Given the description of an element on the screen output the (x, y) to click on. 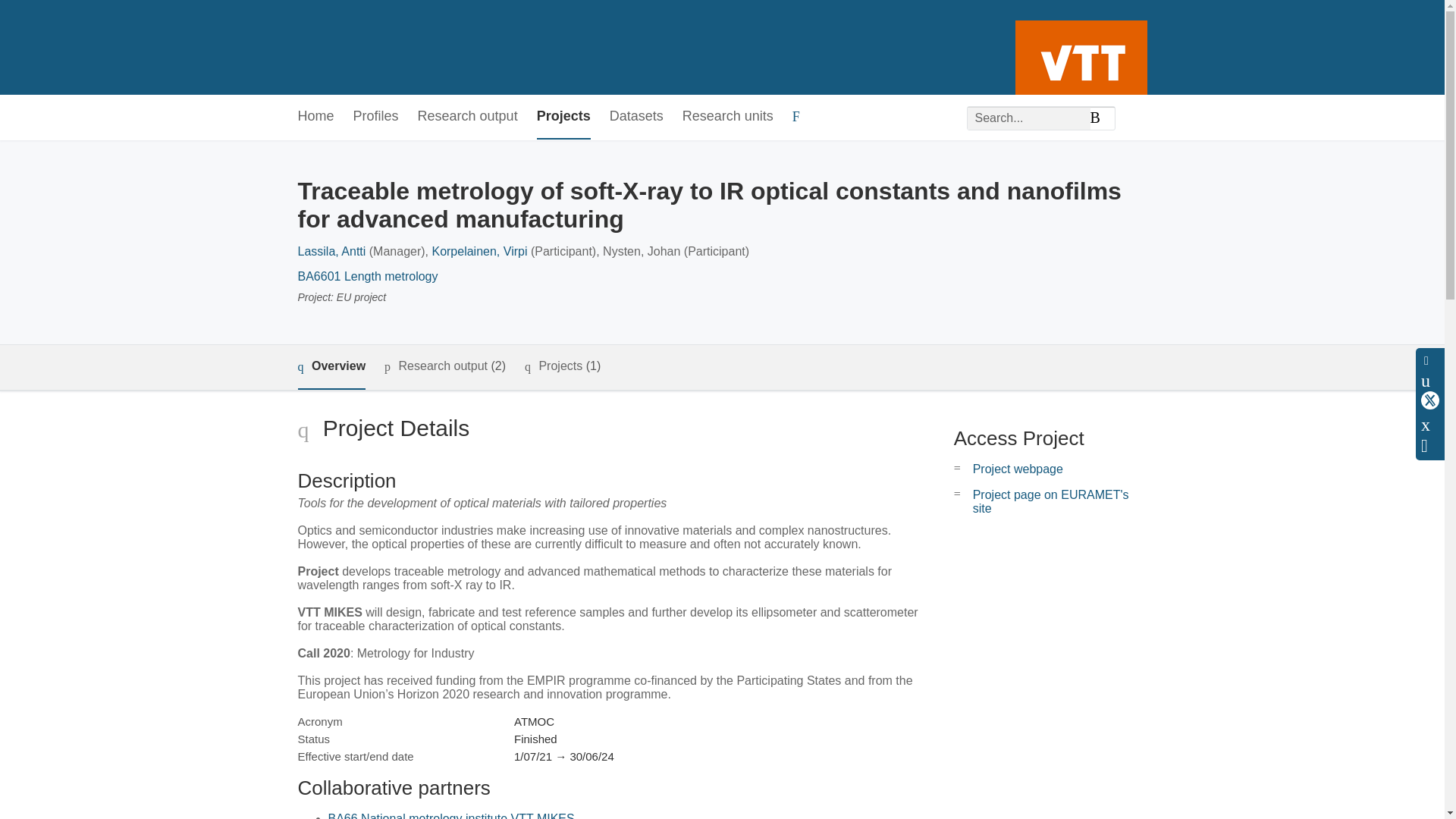
Datasets (636, 117)
BA6601 Length metrology (367, 276)
VTT's Research Information Portal Home (322, 47)
Research units (727, 117)
BA66 National metrology institute VTT MIKES (450, 815)
Project page on EURAMET's site (1050, 501)
Profiles (375, 117)
Projects (564, 117)
Lassila, Antti (331, 250)
Research output (467, 117)
